Given the description of an element on the screen output the (x, y) to click on. 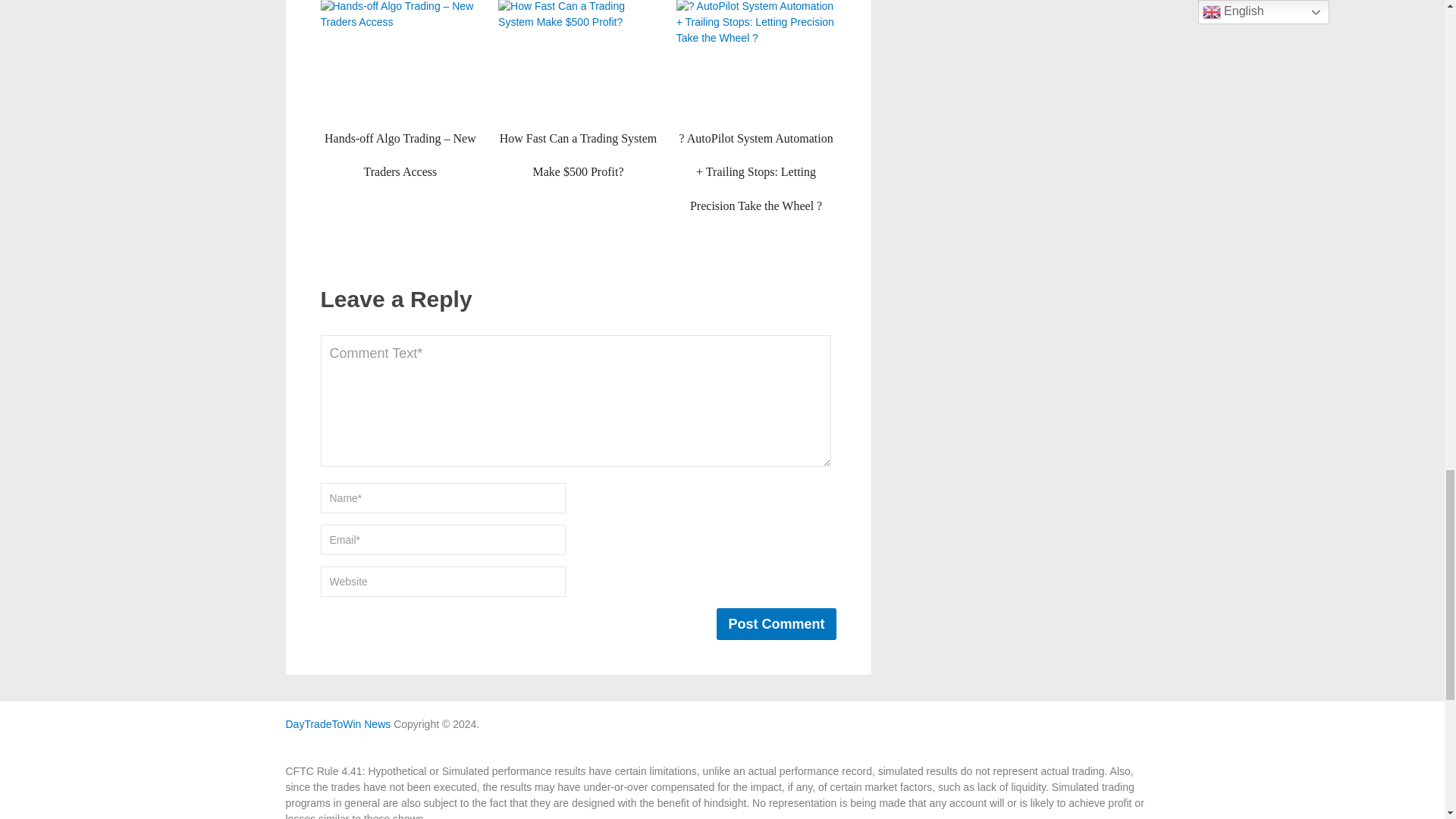
Post Comment (775, 623)
 Day Trading Systems Price Action Strategies (337, 724)
